Given the description of an element on the screen output the (x, y) to click on. 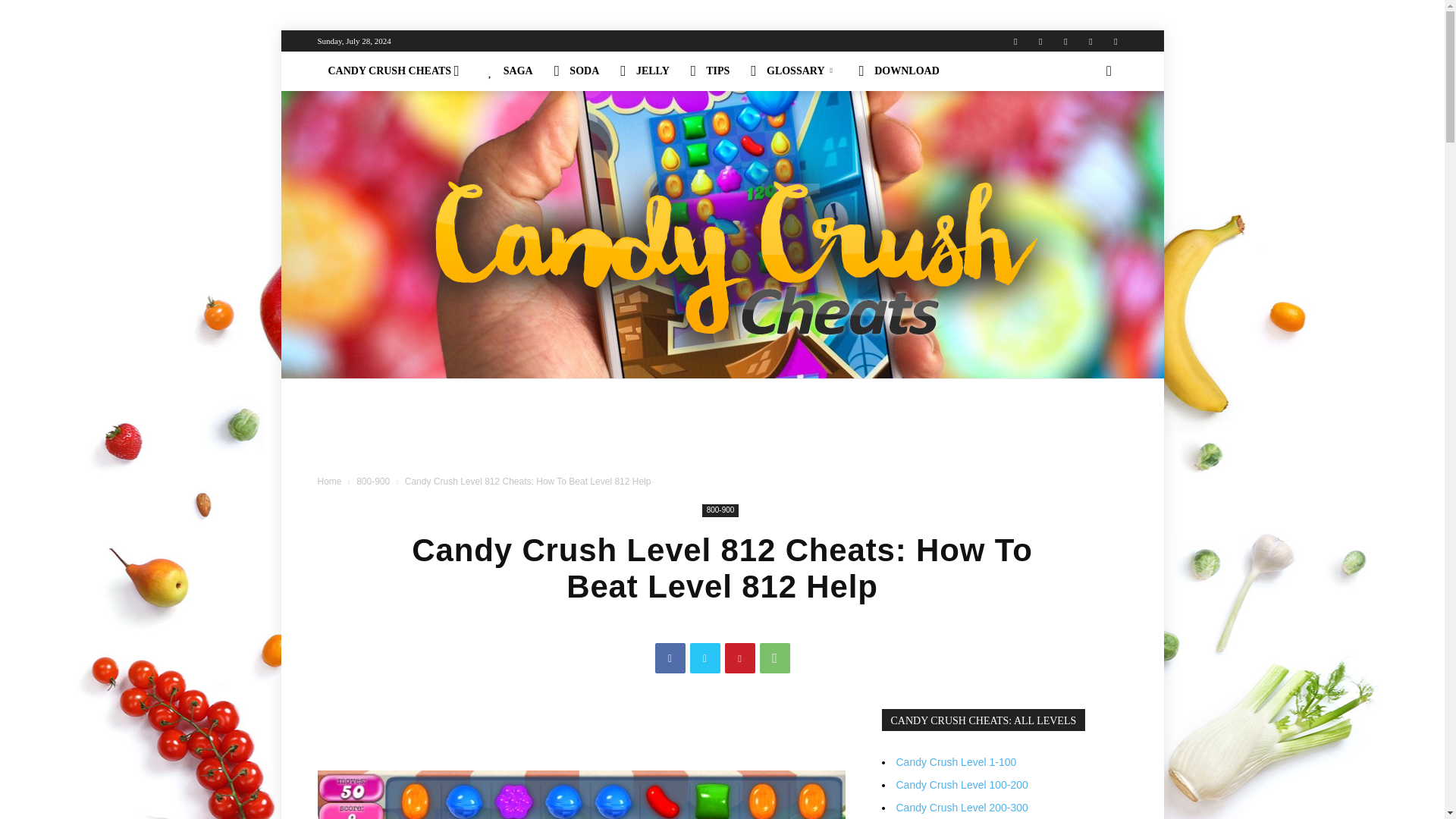
Twitter (1065, 40)
VKontakte (1090, 40)
TIPS (710, 70)
SAGA (510, 70)
JELLY (644, 70)
Facebook (1040, 40)
Candy Crush Saga Cheats (510, 70)
GLOSSARY (793, 70)
Youtube (1114, 40)
Candy Crush Cheats All Levels (397, 70)
